Given the description of an element on the screen output the (x, y) to click on. 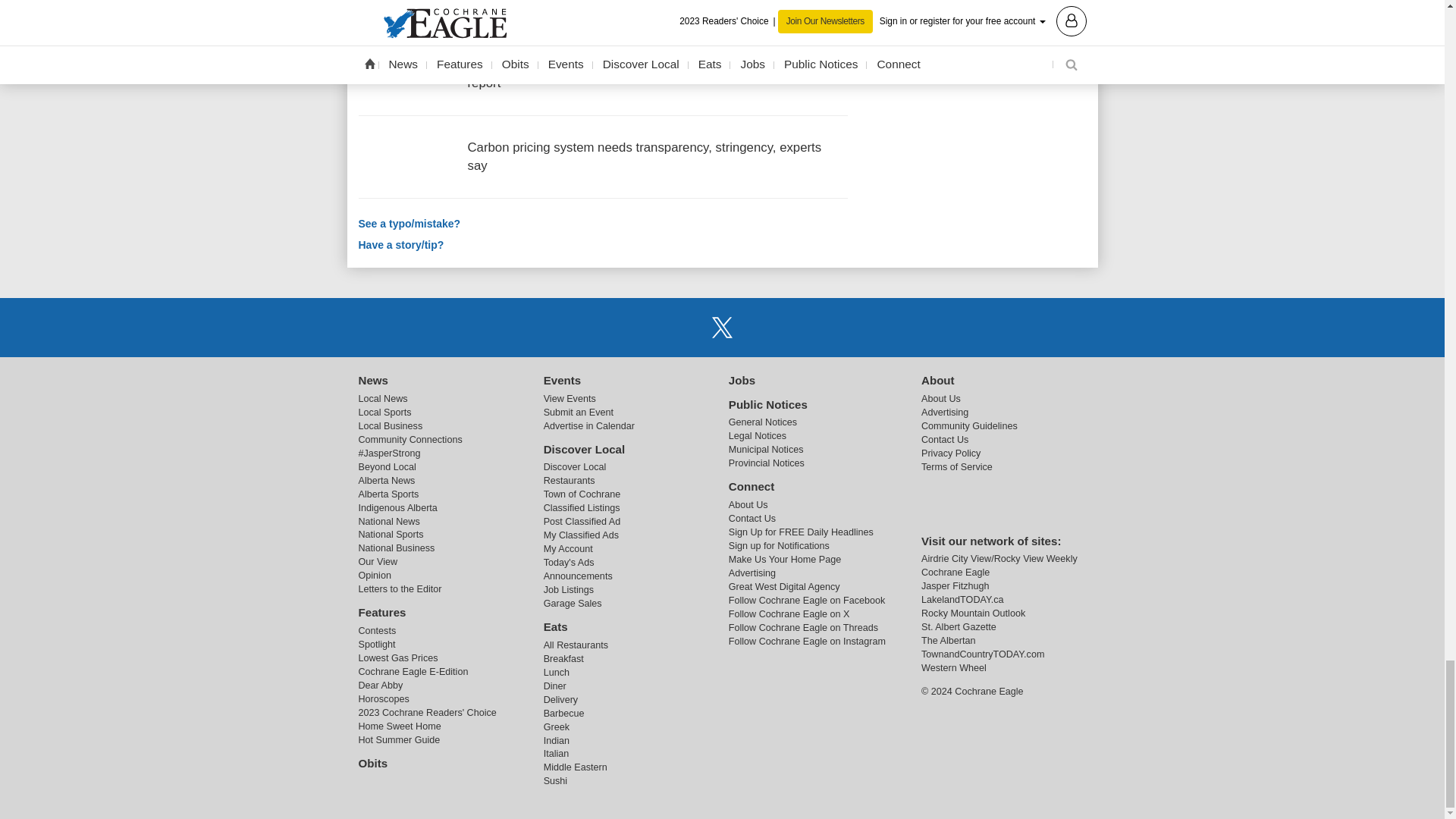
X (721, 326)
Facebook (683, 326)
Instagram (760, 326)
